Given the description of an element on the screen output the (x, y) to click on. 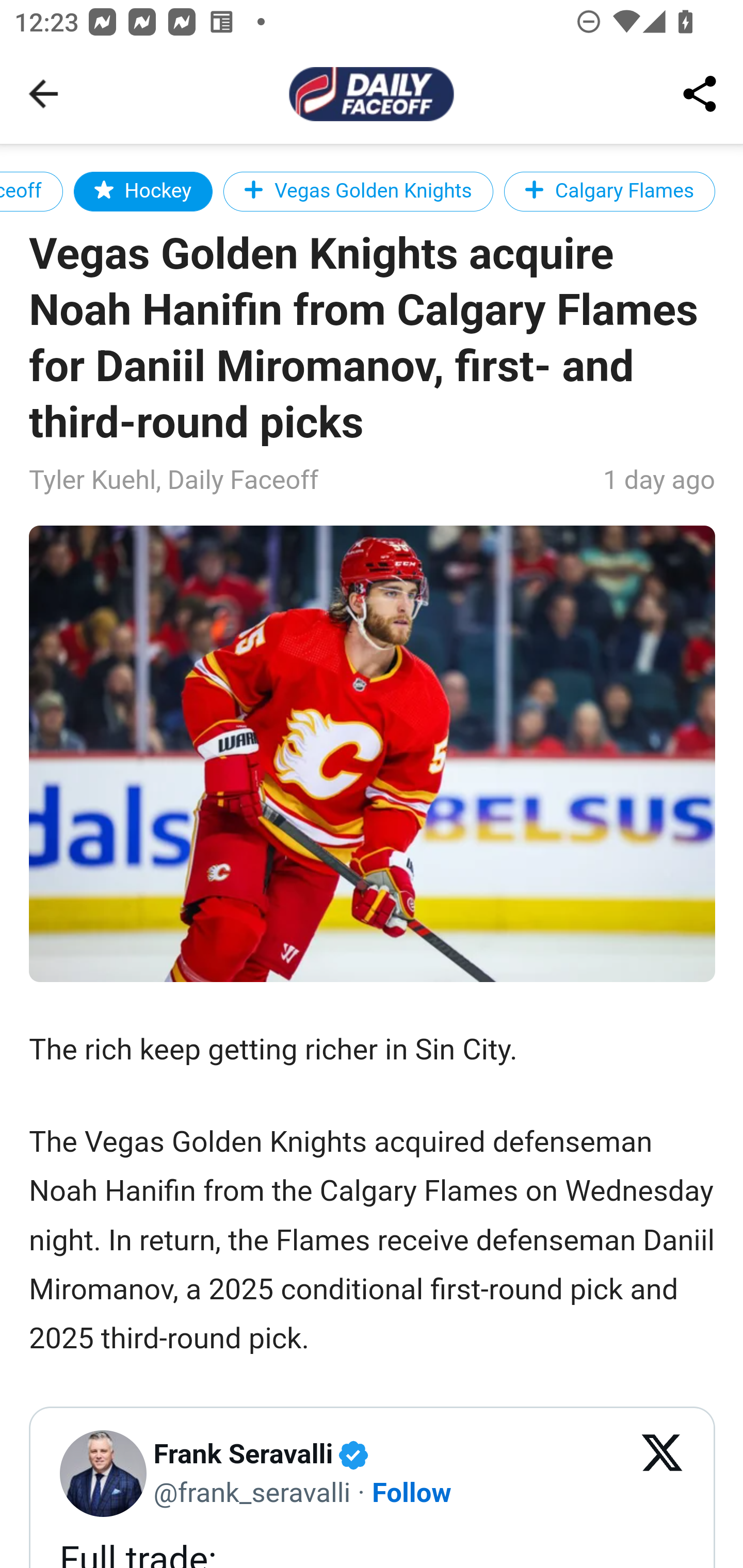
Hockey (142, 191)
Vegas Golden Knights (358, 191)
Calgary Flames (609, 191)
View on X (662, 1473)
@frank_seravalli (251, 1490)
Follow (412, 1490)
